Given the description of an element on the screen output the (x, y) to click on. 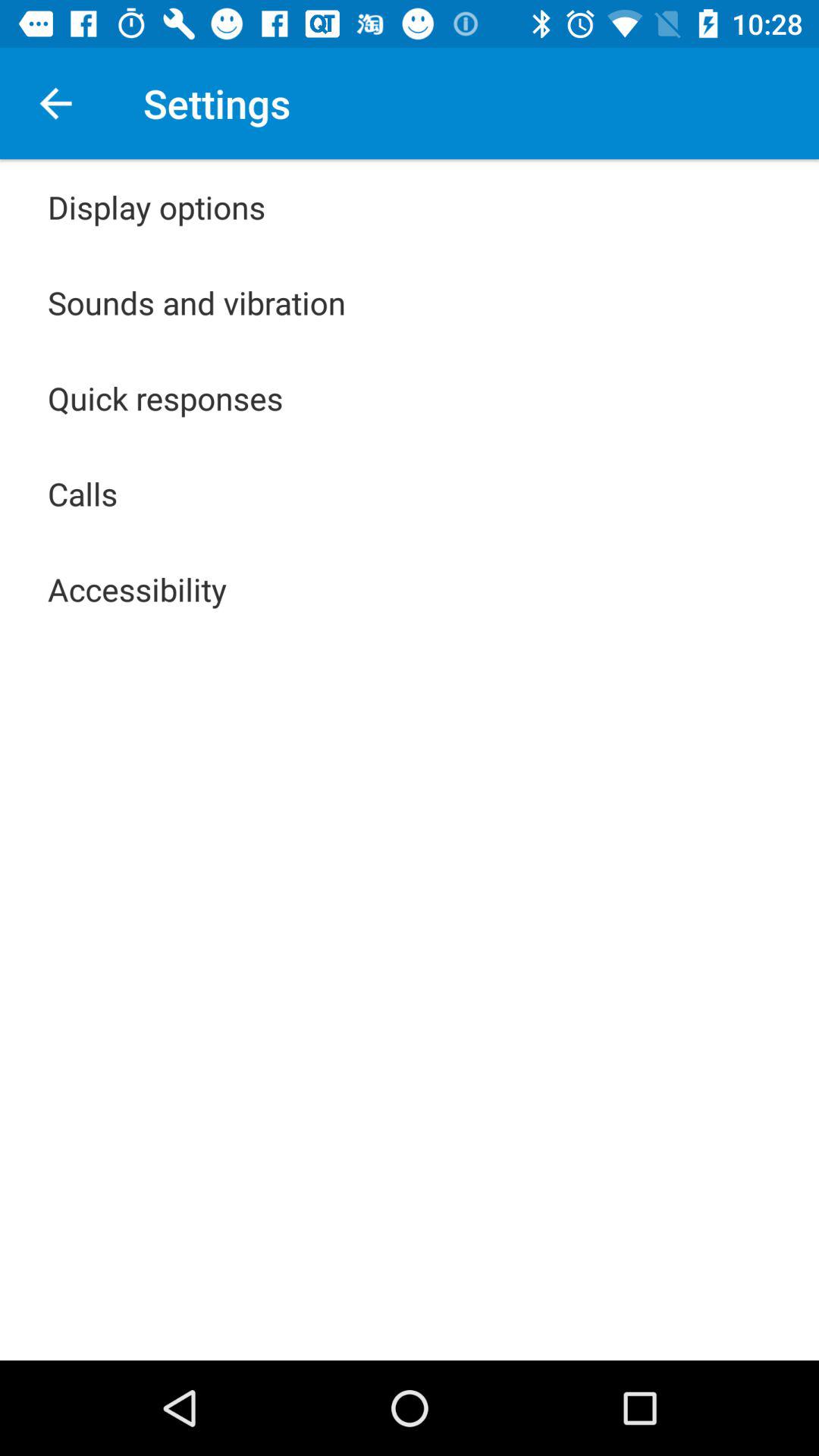
scroll until the quick responses (165, 397)
